Given the description of an element on the screen output the (x, y) to click on. 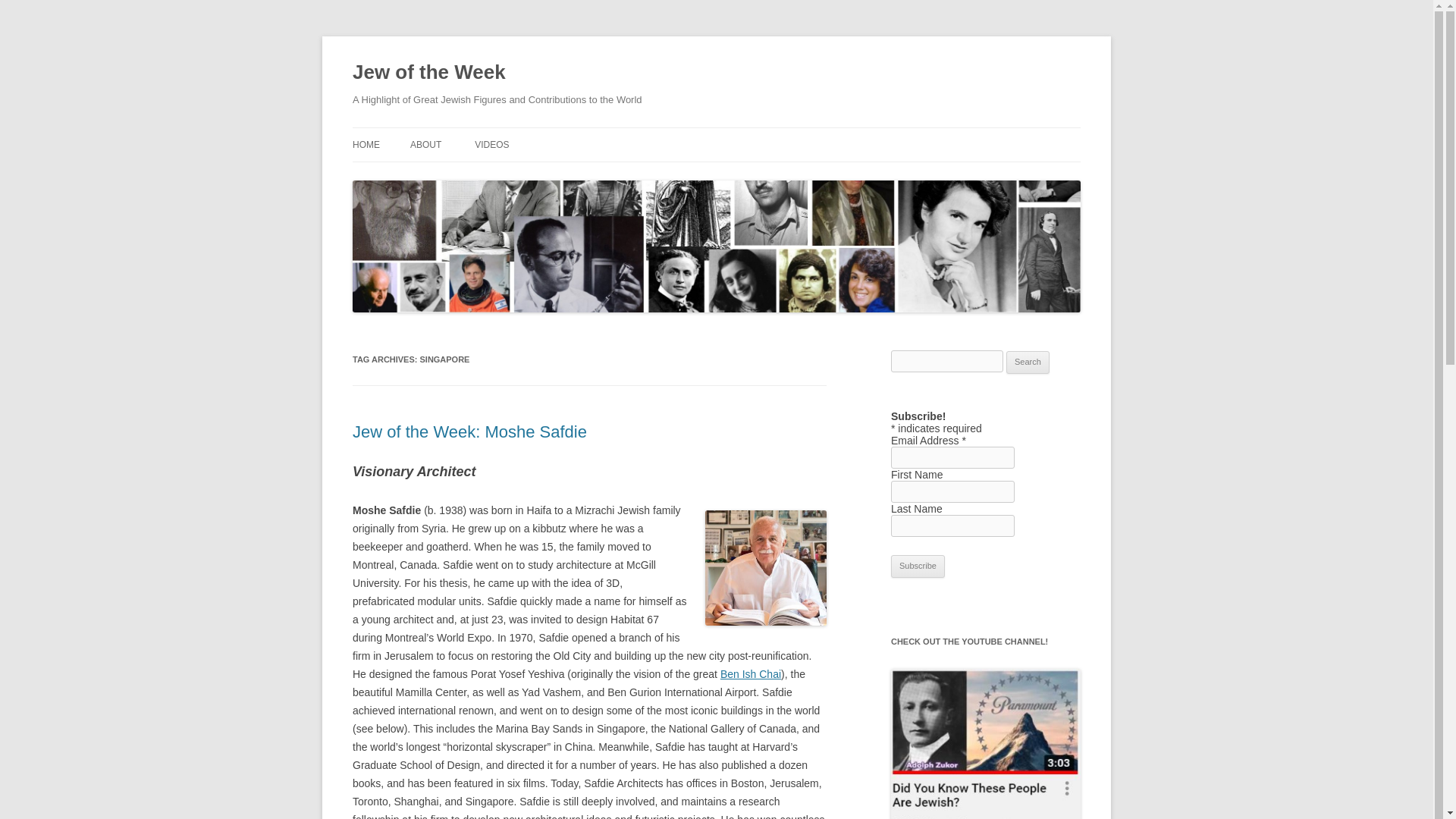
VIDEOS (491, 144)
Ben Ish Chai (750, 674)
Subscribe (917, 566)
Search (1027, 362)
Search (1027, 362)
Jew of the Week (428, 72)
Jew of the Week: Moshe Safdie (469, 431)
Subscribe (917, 566)
ABOUT (425, 144)
Jew of the Week (428, 72)
